Given the description of an element on the screen output the (x, y) to click on. 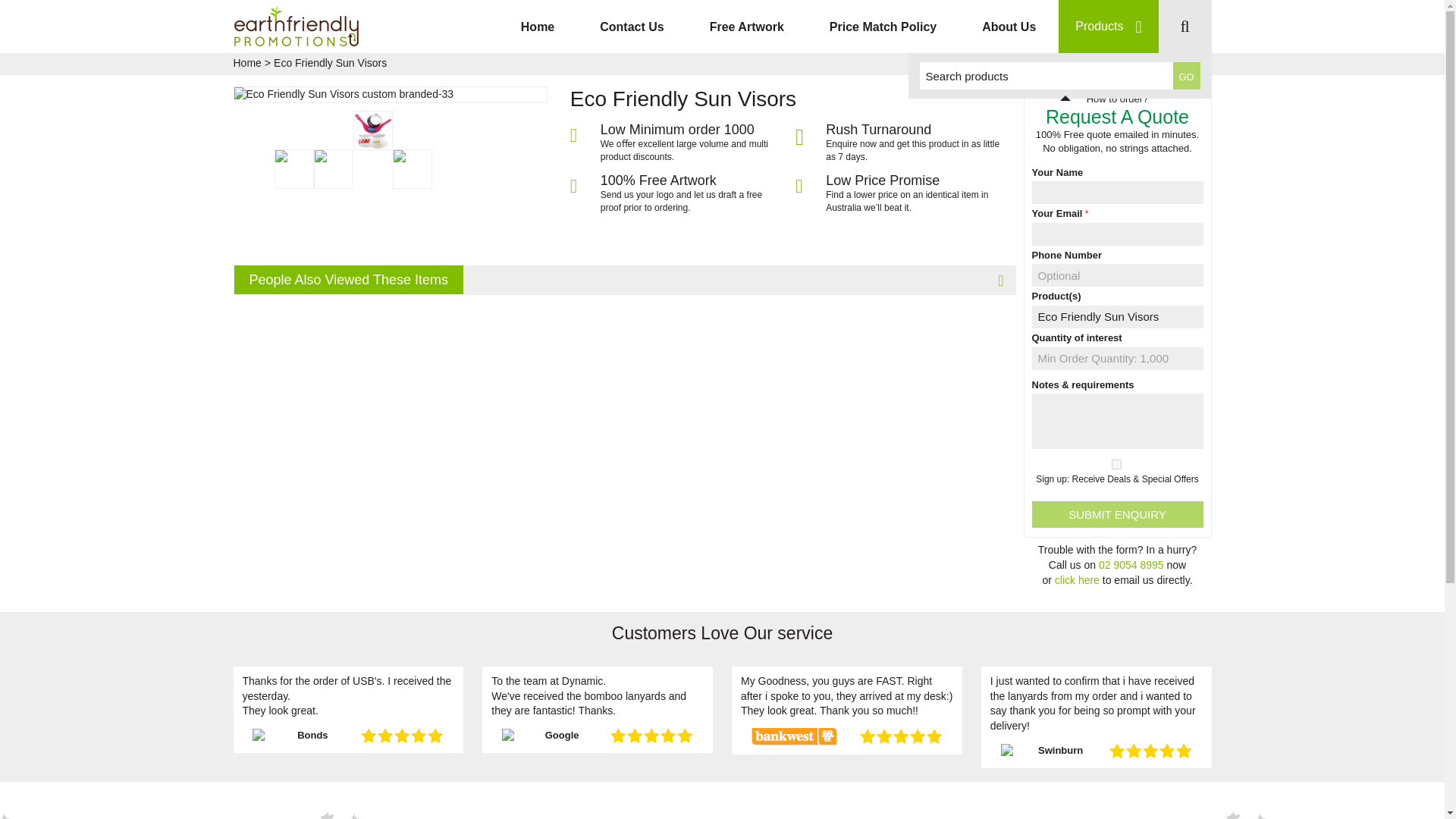
Price Match Policy (882, 26)
Eco Friendly Sun Visors custom branded-03 (294, 169)
Home (536, 26)
About Us (1008, 26)
Eco Friendly Sun Visors (1116, 316)
Go to Home Page (247, 63)
Contact Us (630, 26)
1 (1116, 464)
Search (1185, 75)
Eco Friendly Sun Visors custom branded-33 (389, 94)
